Given the description of an element on the screen output the (x, y) to click on. 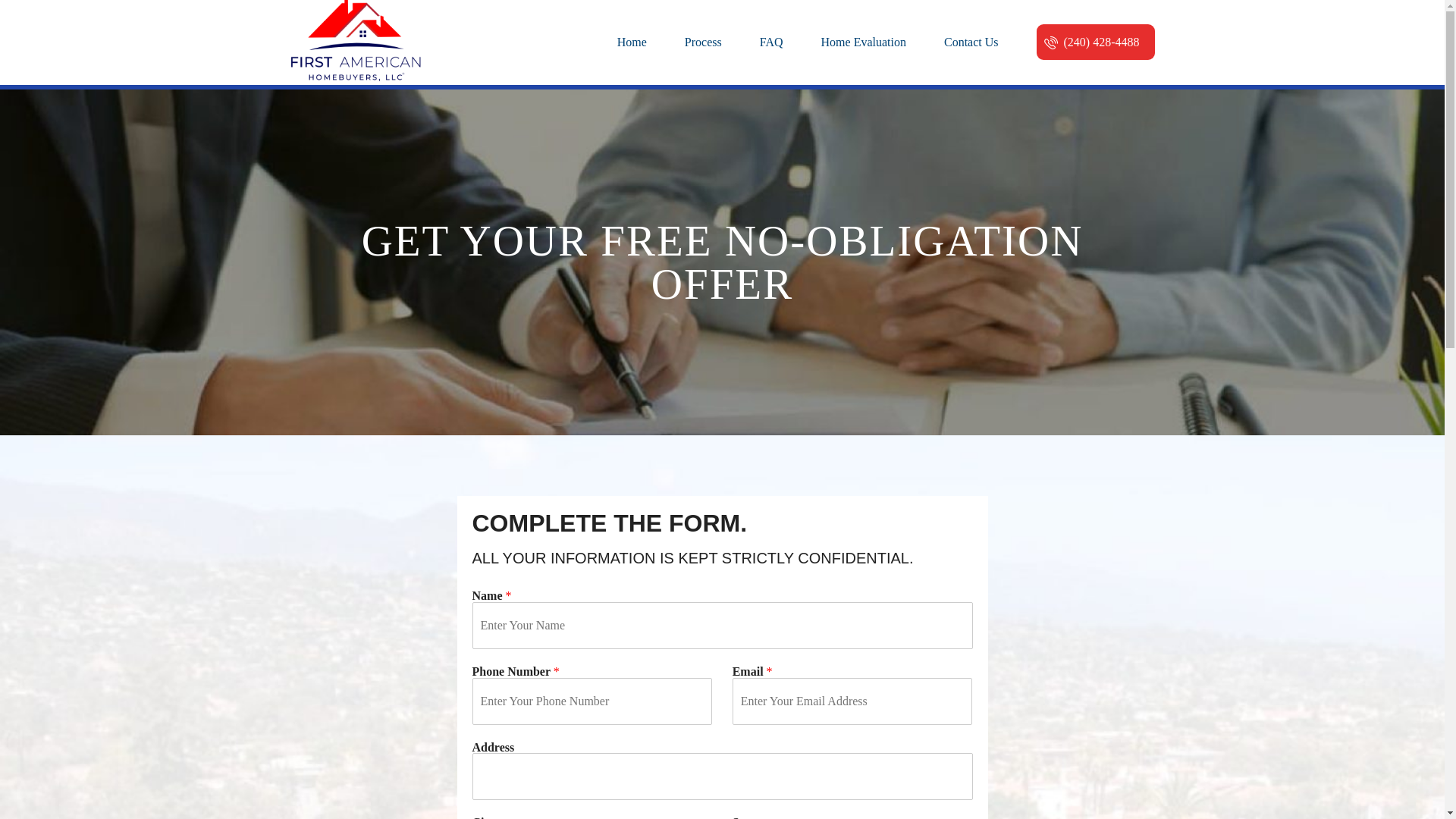
Process Element type: text (703, 41)
Home Evaluation Element type: text (863, 41)
FAQ Element type: text (771, 41)
Home Element type: text (631, 41)
(240) 428-4488 Element type: text (1095, 41)
Contact Us Element type: text (971, 41)
